Given the description of an element on the screen output the (x, y) to click on. 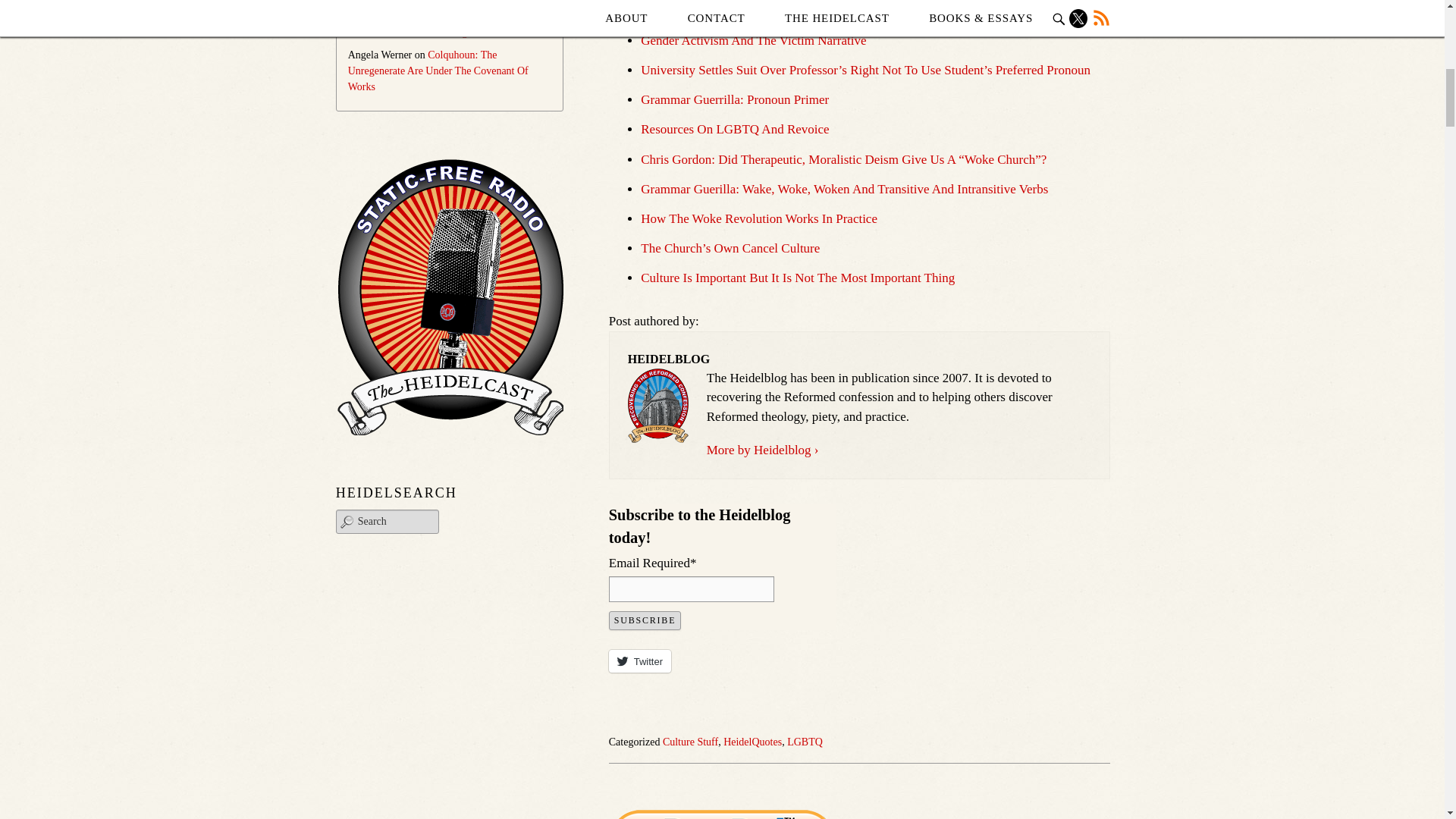
Click to share on Twitter (639, 660)
Resources On LGBTQ And Revoice (734, 129)
Support the Heidelblog! (721, 814)
Culture Is Important But It Is Not The Most Important Thing (797, 278)
How The Woke Revolution Works In Practice (758, 218)
Grammar Guerrilla: Pronoun Primer (734, 99)
Subscribe (644, 619)
Gender Activism And The Victim Narrative (753, 40)
